Given the description of an element on the screen output the (x, y) to click on. 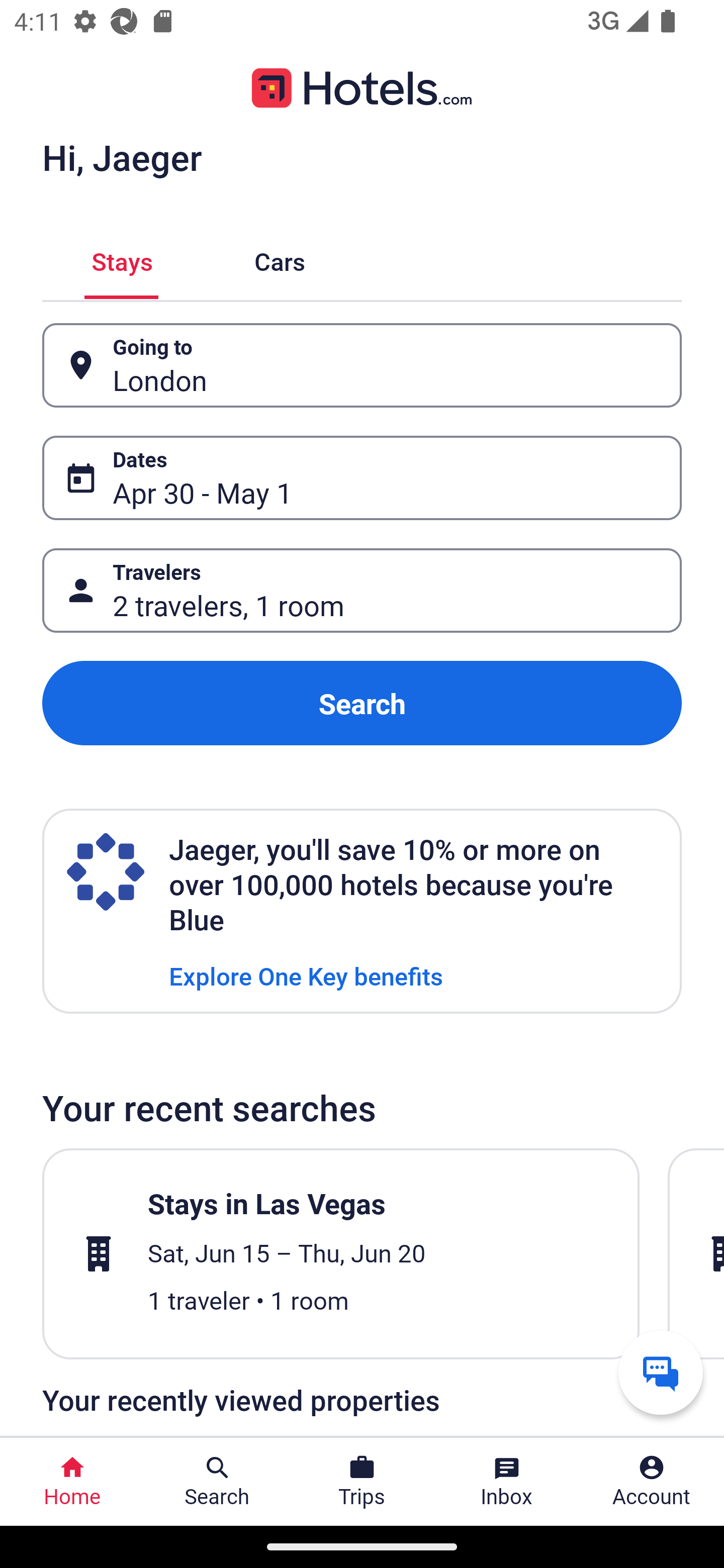
Hi, Jaeger (121, 156)
Cars (279, 259)
Going to Button London (361, 365)
Dates Button Apr 30 - May 1 (361, 477)
Travelers Button 2 travelers, 1 room (361, 590)
Search (361, 702)
Get help from a virtual agent (660, 1371)
Search Search Button (216, 1481)
Trips Trips Button (361, 1481)
Inbox Inbox Button (506, 1481)
Account Profile. Button (651, 1481)
